Given the description of an element on the screen output the (x, y) to click on. 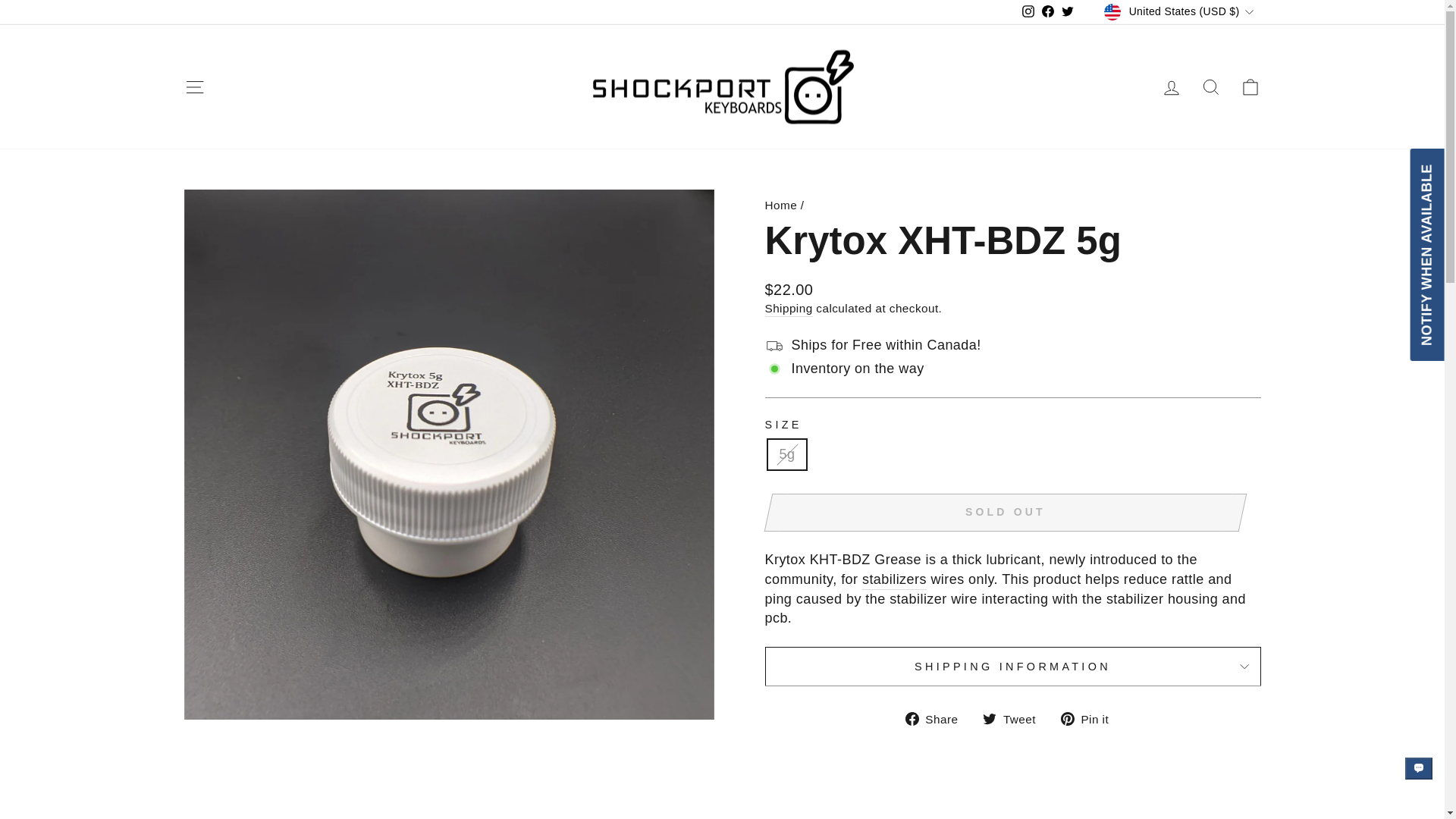
Share on Facebook (937, 718)
twitter (1067, 10)
twitter (988, 718)
icon-search (1210, 86)
account (1170, 87)
icon-bag-minimal (1249, 86)
Stabilizers (893, 579)
Back to the frontpage (780, 205)
icon-hamburger (194, 86)
